Given the description of an element on the screen output the (x, y) to click on. 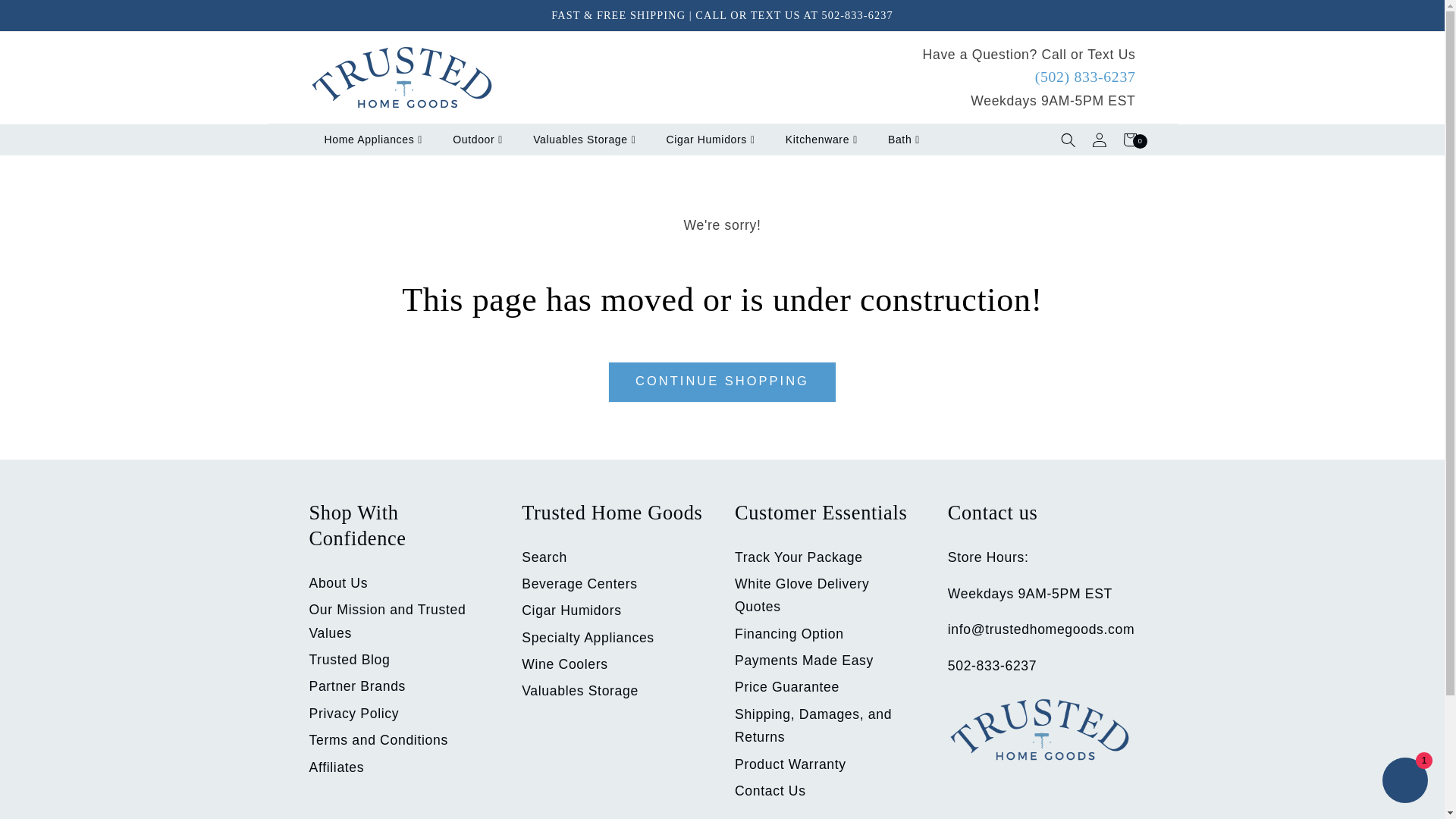
SKIP TO CONTENT (49, 18)
Shopify online store chat (1404, 781)
